Given the description of an element on the screen output the (x, y) to click on. 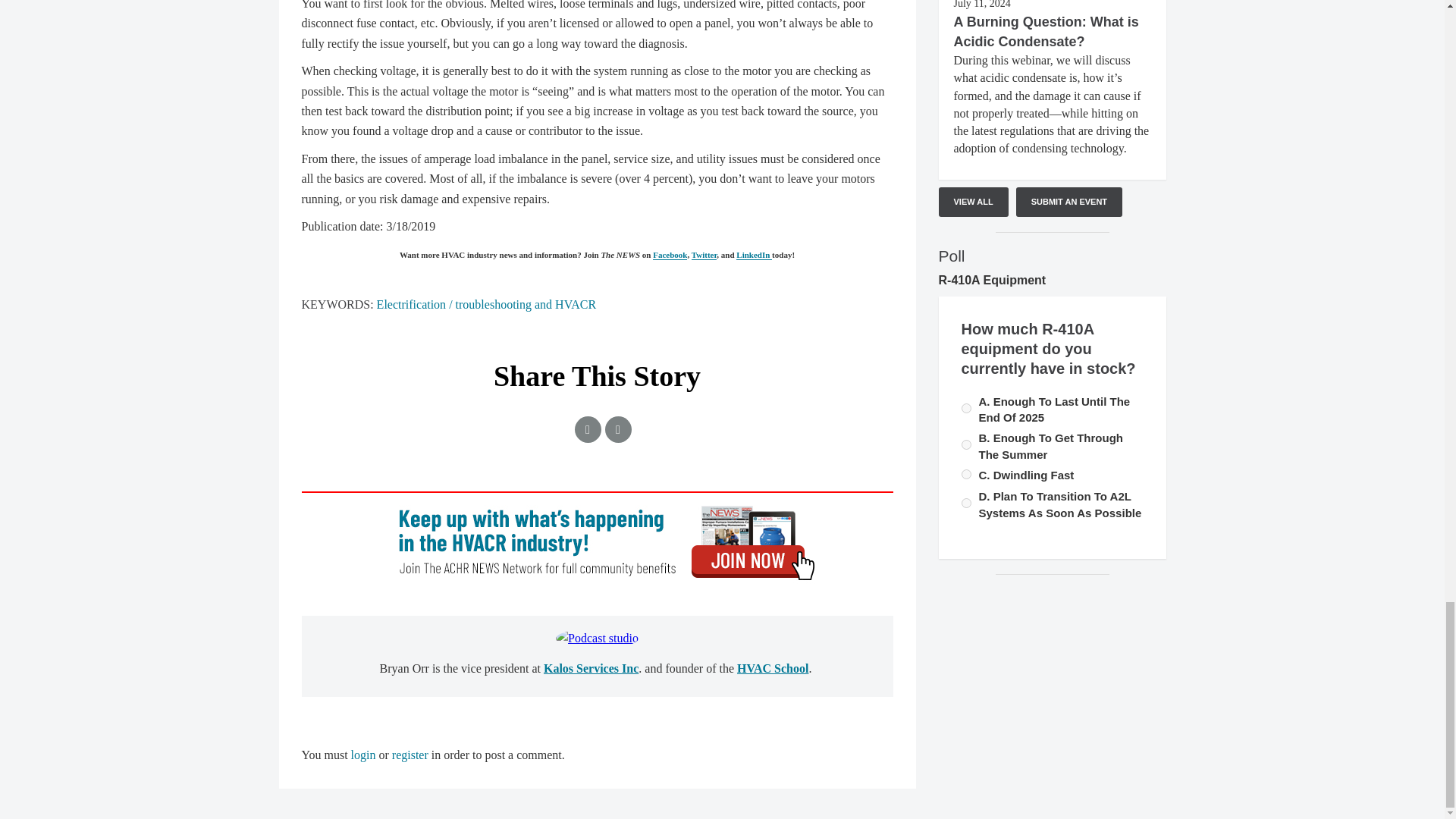
597 (965, 408)
598 (965, 474)
A Burning Question: What is Acidic Condensate? (1045, 31)
596 (965, 444)
599 (965, 502)
